Given the description of an element on the screen output the (x, y) to click on. 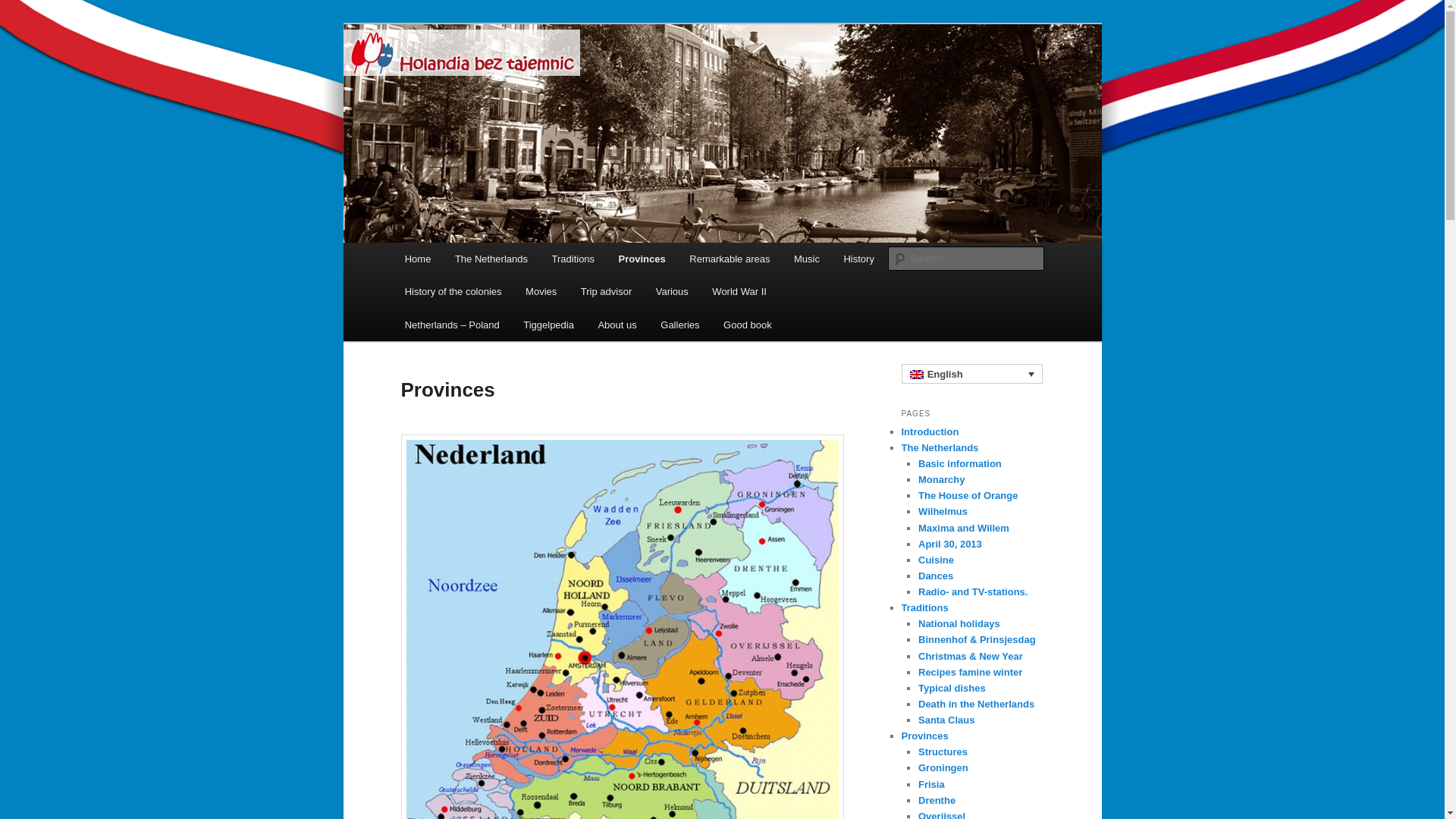
Traditions (573, 258)
Remarkable areas (730, 258)
Holandia bez tajemnic (519, 78)
English (916, 374)
The Netherlands (491, 258)
Search (24, 8)
Home (417, 258)
Provinces (642, 258)
